Given the description of an element on the screen output the (x, y) to click on. 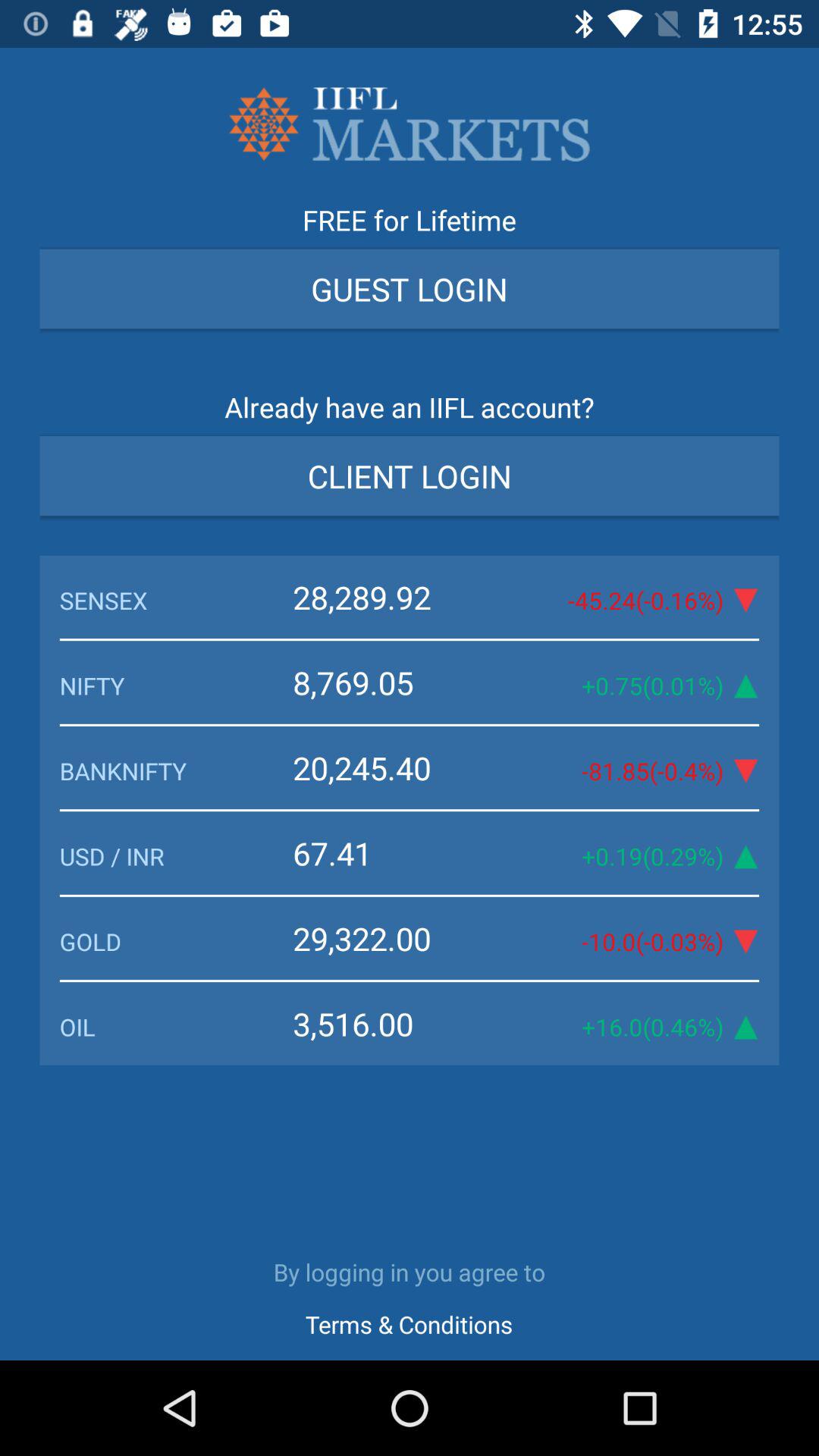
jump to the 67.41 item (397, 852)
